Given the description of an element on the screen output the (x, y) to click on. 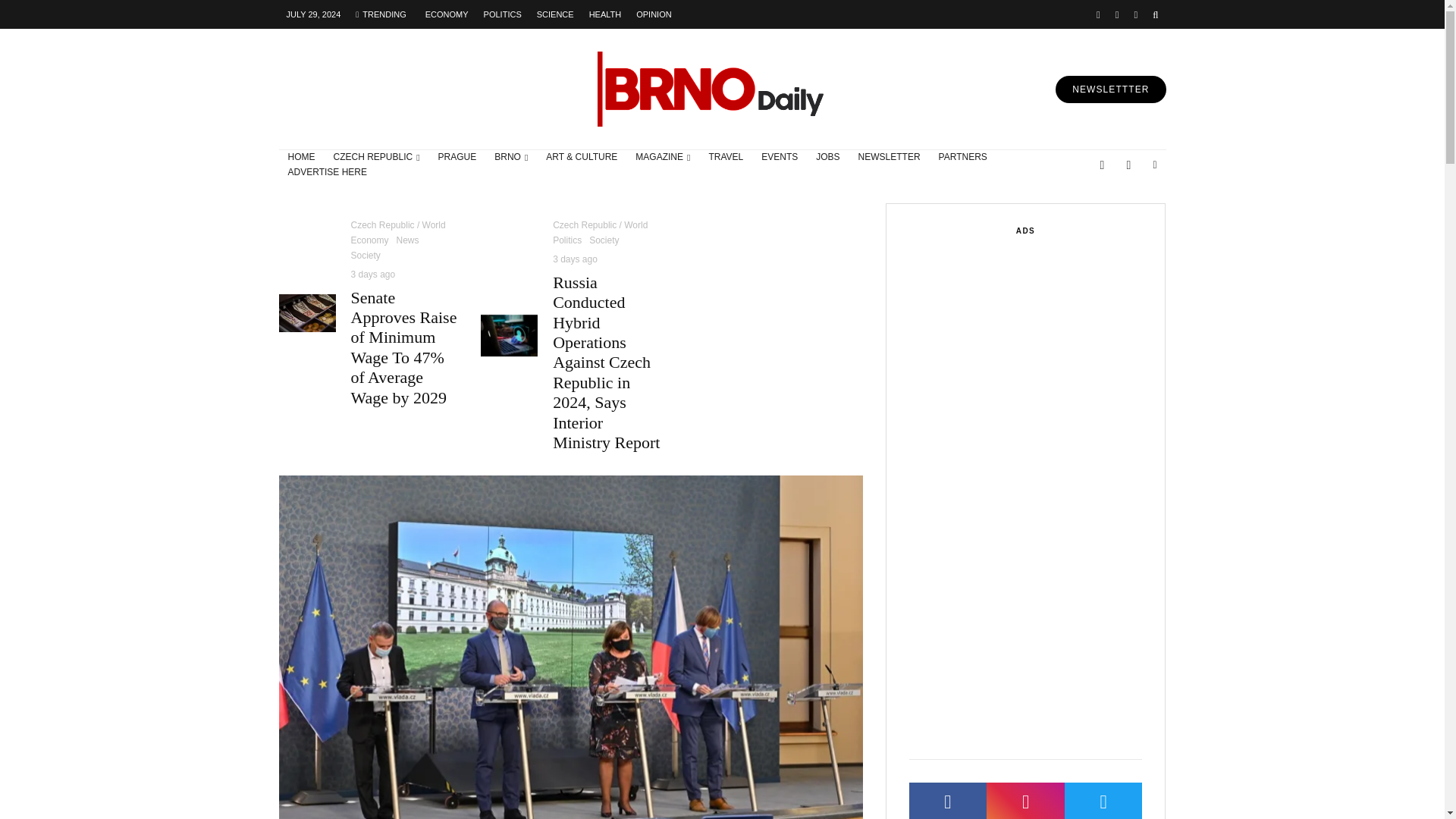
HEALTH (604, 14)
ECONOMY (446, 14)
SCIENCE (554, 14)
POLITICS (502, 14)
NEWSLETTTER (1110, 89)
CZECH REPUBLIC (376, 157)
PRAGUE (457, 157)
TRENDING (380, 14)
OPINION (653, 14)
HOME (301, 157)
